Given the description of an element on the screen output the (x, y) to click on. 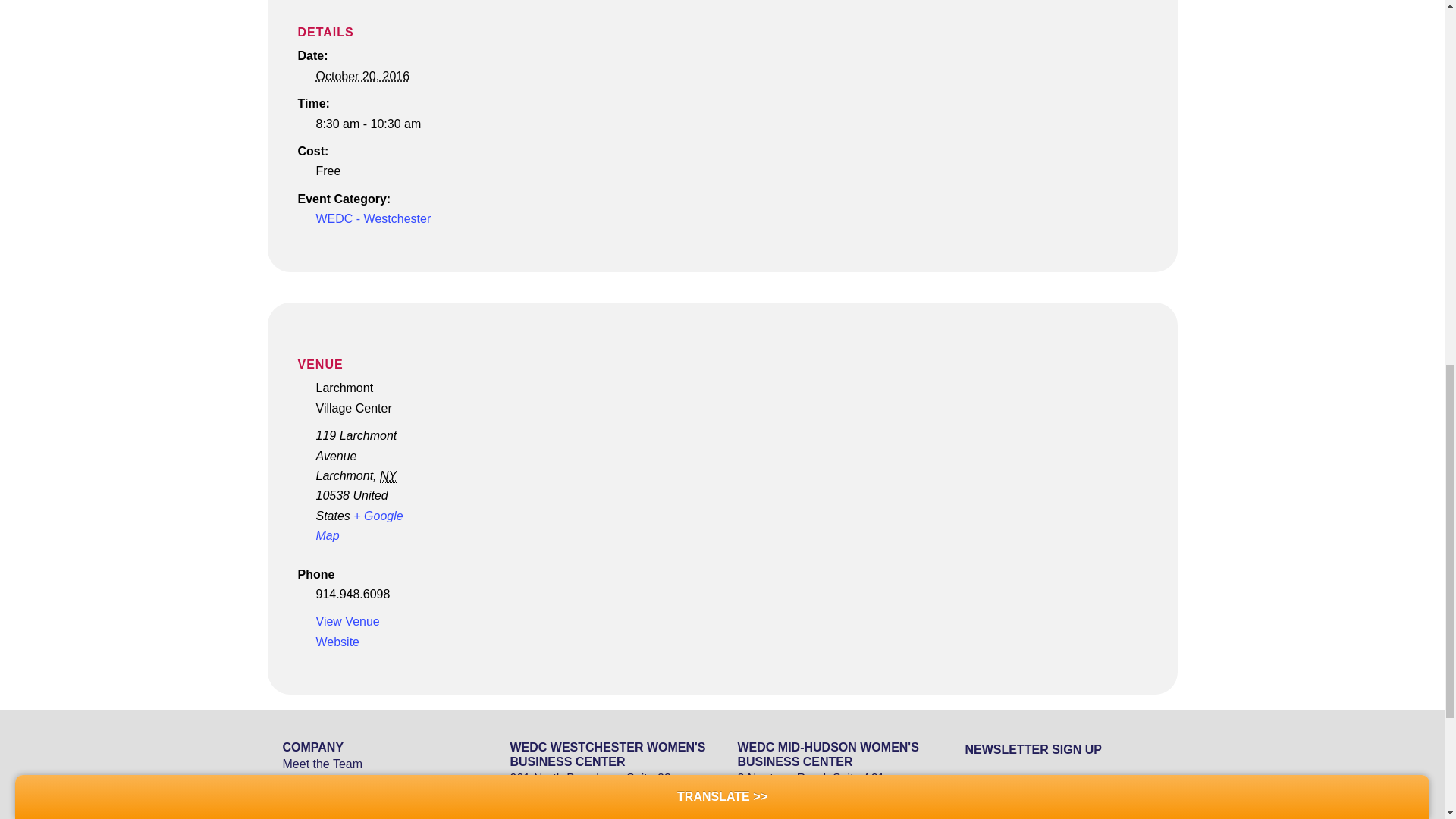
2016-10-20 (362, 76)
New York (388, 476)
Click to view a Google Map (359, 525)
2016-10-20 (399, 124)
